Given the description of an element on the screen output the (x, y) to click on. 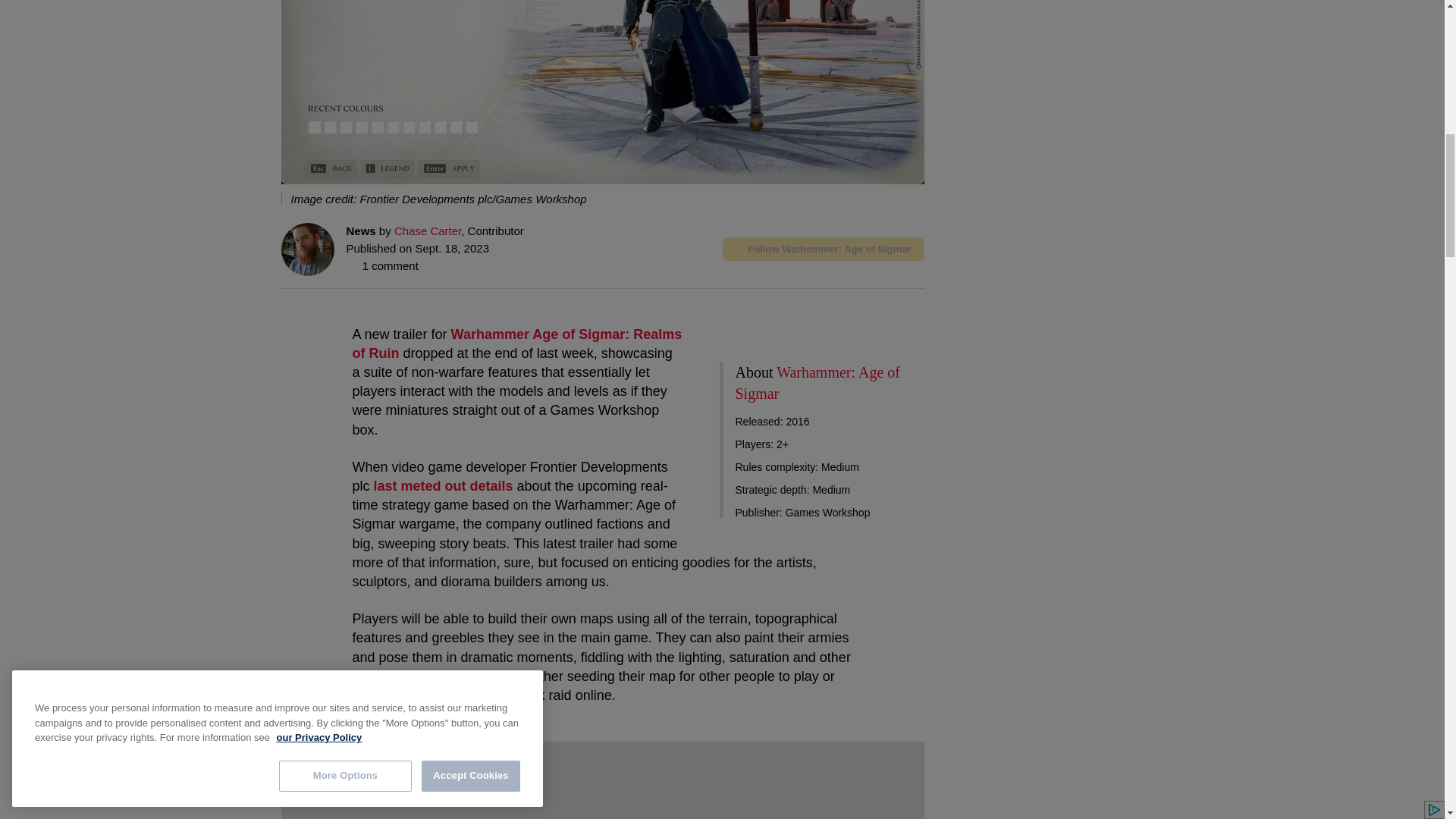
Chase Carter (427, 230)
last meted out details (443, 485)
Follow Warhammer: Age of Sigmar (822, 249)
Warhammer: Age of Sigmar (817, 382)
Warhammer Age of Sigmar: Realms of Ruin (516, 343)
1 comment (381, 265)
